Given the description of an element on the screen output the (x, y) to click on. 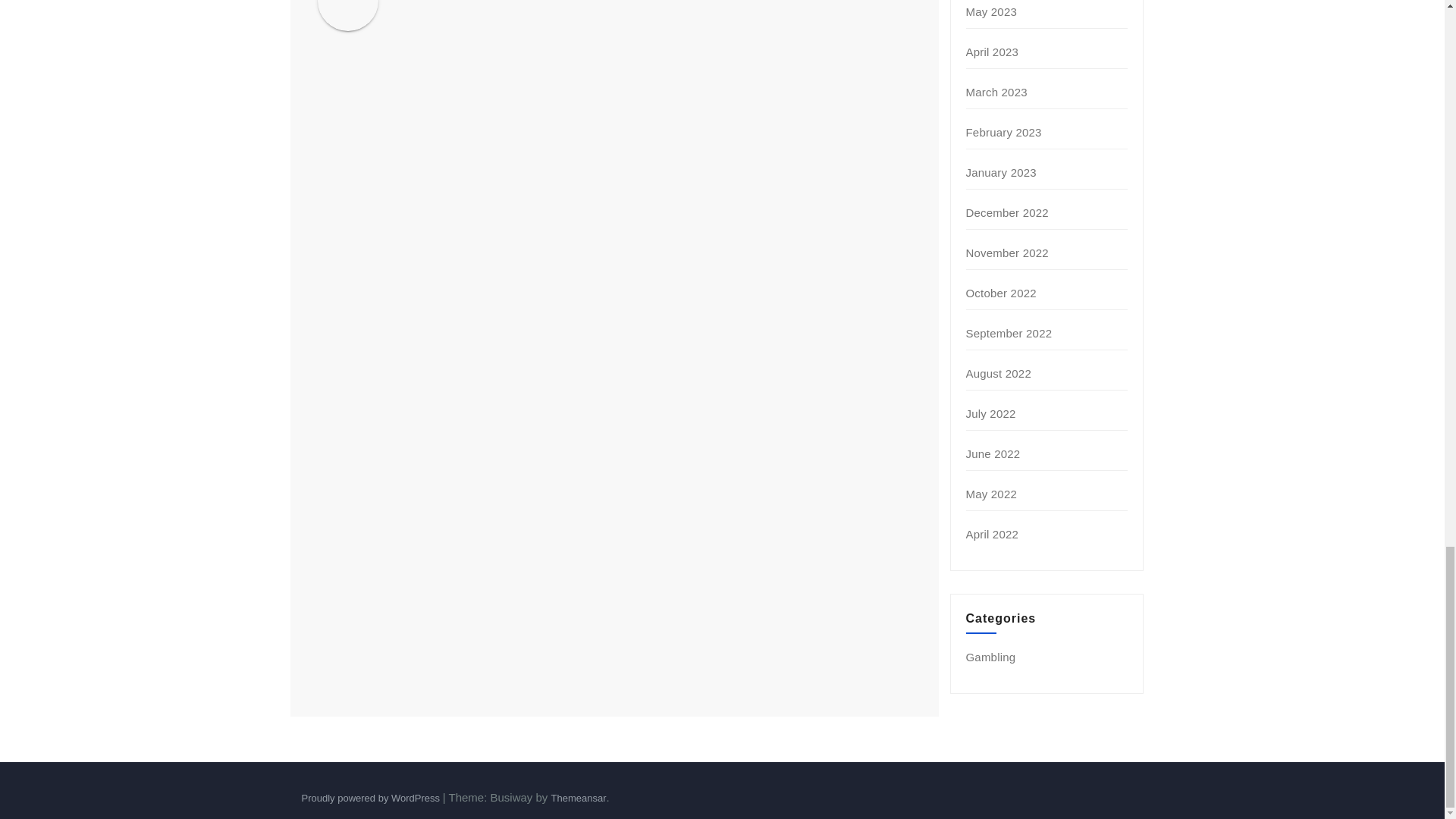
May 2023 (991, 11)
March 2023 (996, 91)
January 2023 (1001, 172)
February 2023 (1004, 132)
April 2023 (992, 51)
December 2022 (1007, 212)
